Given the description of an element on the screen output the (x, y) to click on. 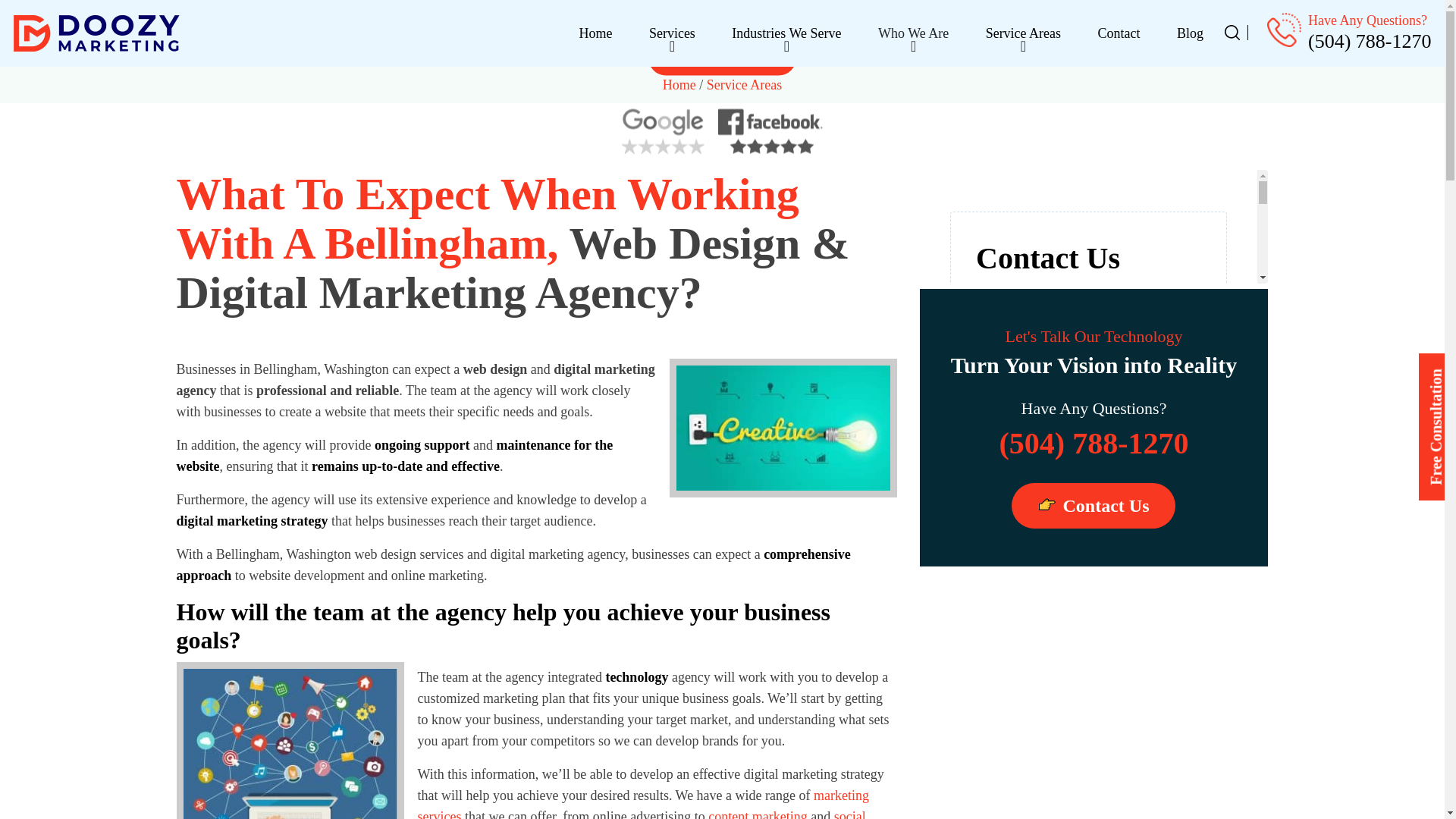
facebook-logo (769, 131)
Home (594, 33)
logo (96, 33)
google-logo (662, 131)
Sidebar Form (1093, 226)
Services (672, 33)
